Given the description of an element on the screen output the (x, y) to click on. 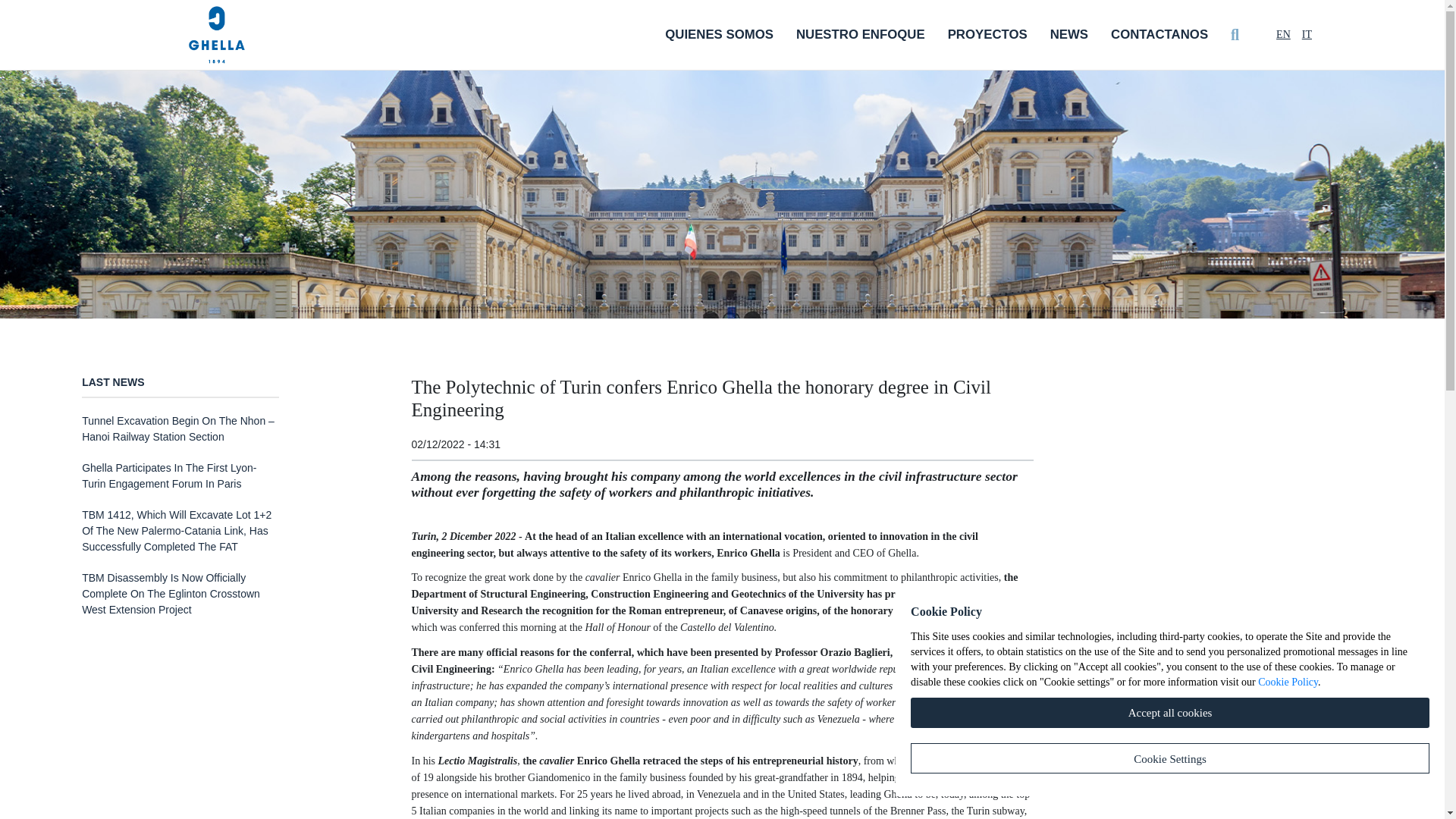
QUIENES SOMOS (719, 34)
NUESTRO ENFOQUE (860, 34)
PROYECTOS (987, 34)
Expand menu Nuestro Enfoque (860, 34)
Inicio (217, 35)
Expand menu Proyectos (987, 34)
NEWS (1068, 34)
CONTACTANOS (1159, 34)
EN (1283, 34)
